Given the description of an element on the screen output the (x, y) to click on. 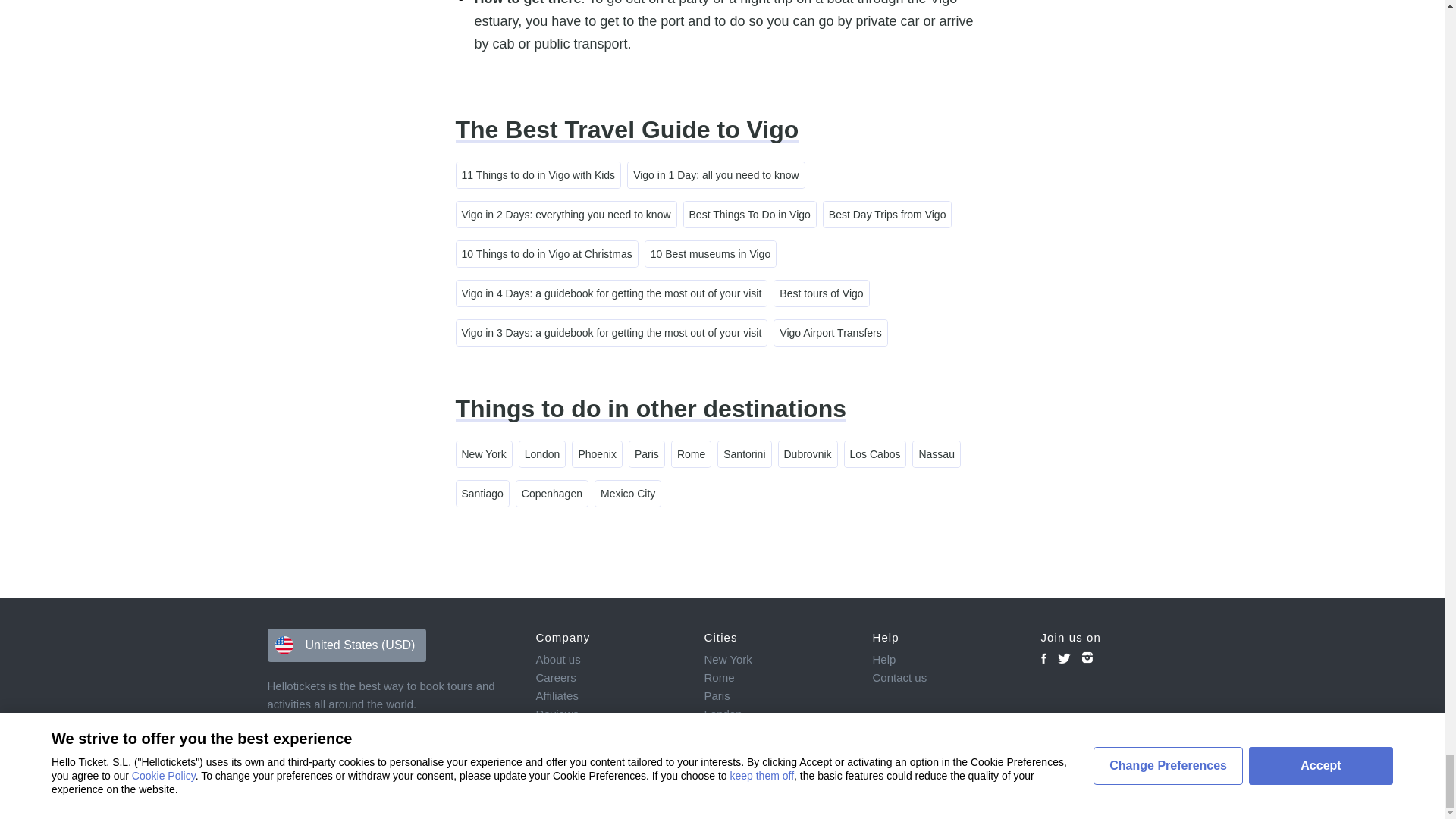
Best Things To Do in Vigo (749, 214)
Vigo in 2 Days: everything you need to know (567, 214)
Best Day Trips from Vigo (888, 214)
11 Things to do in Vigo with Kids (539, 175)
10 Best museums in Vigo (710, 253)
Vigo Airport Transfers (830, 332)
The Best Travel Guide to Vigo (625, 129)
10 Things to do in Vigo at Christmas (547, 253)
Best tours of Vigo (820, 293)
Vigo in 1 Day: all you need to know (715, 175)
Things to do in other destinations (649, 408)
